Given the description of an element on the screen output the (x, y) to click on. 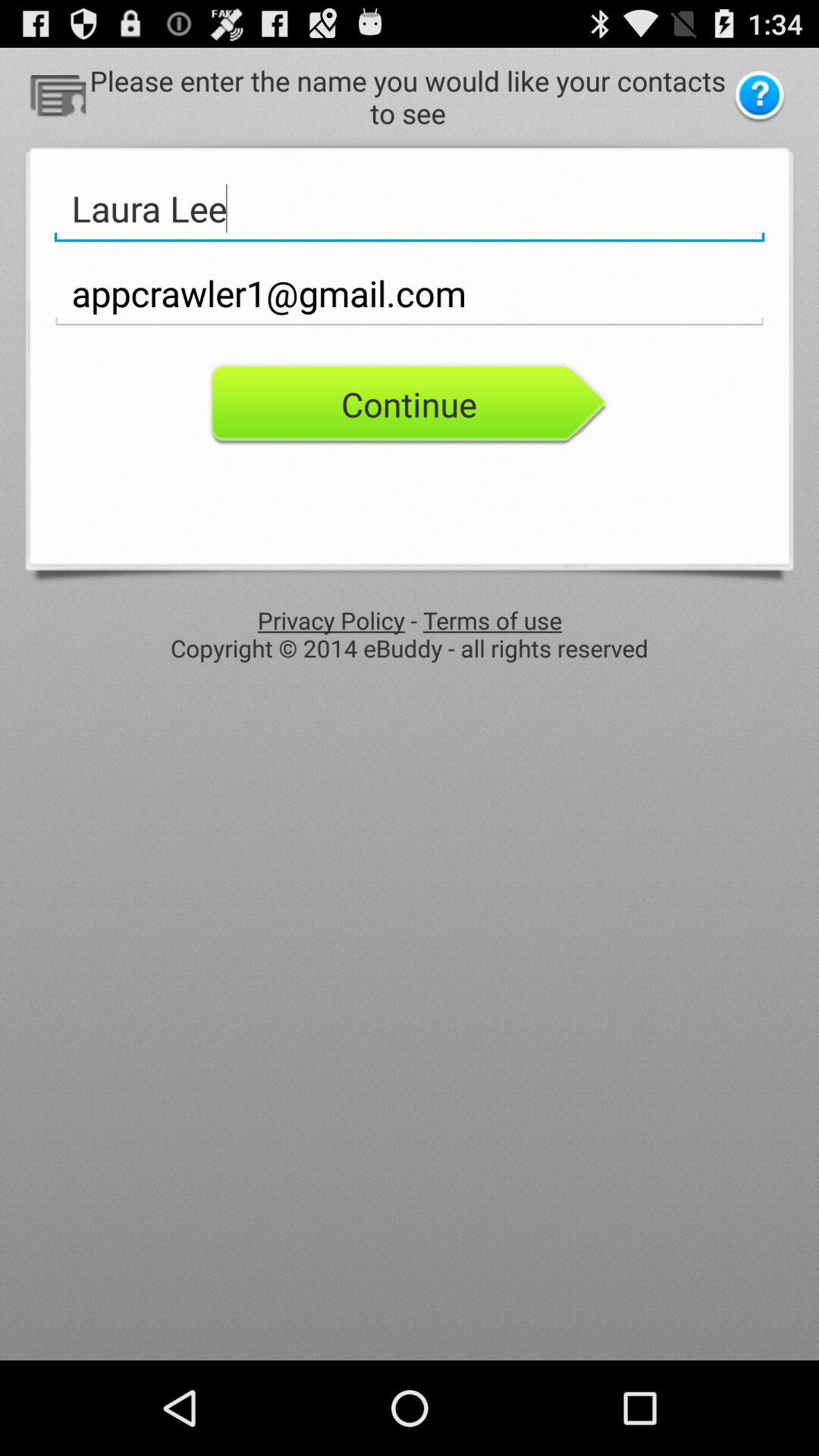
more information (759, 96)
